Given the description of an element on the screen output the (x, y) to click on. 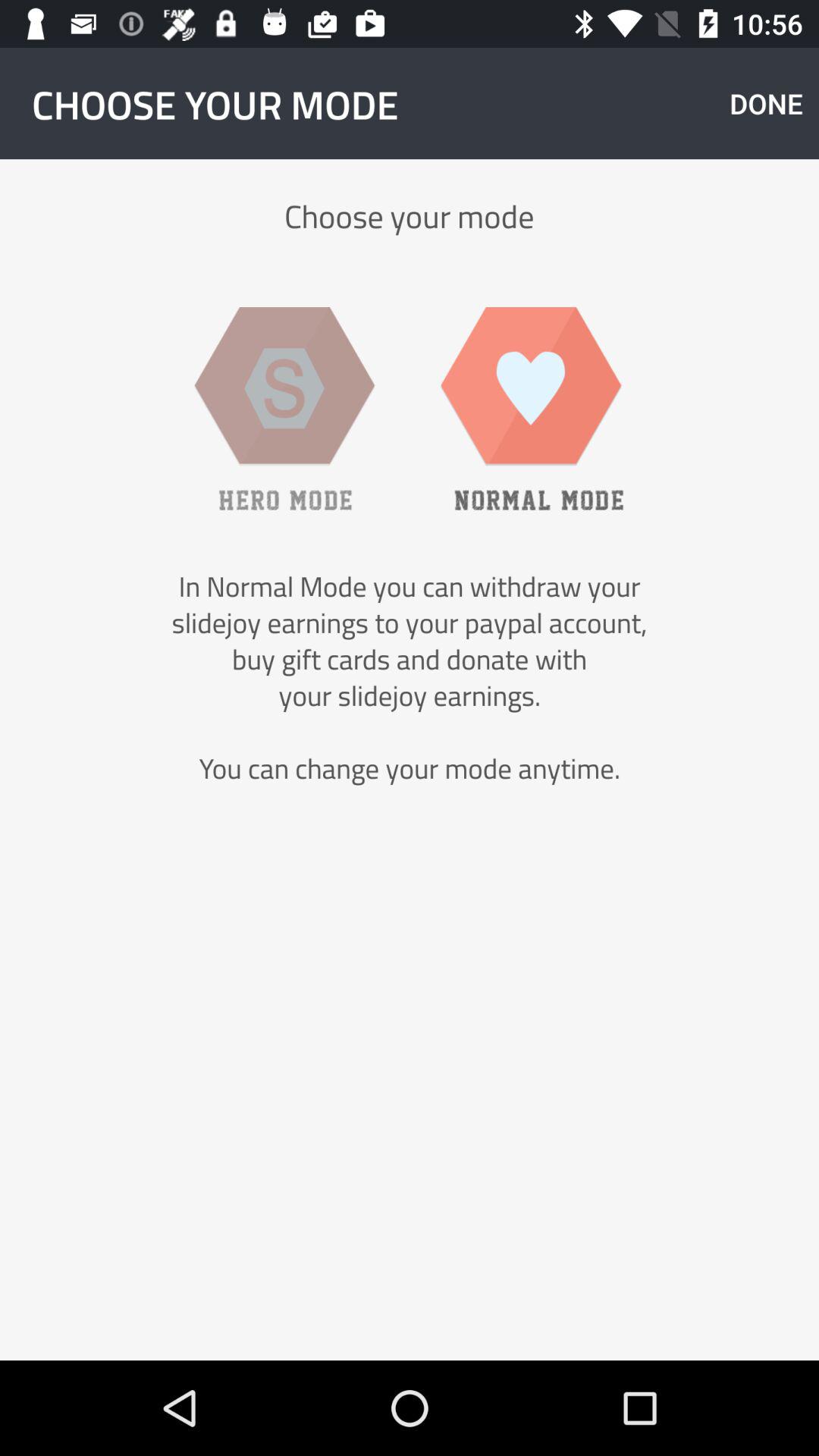
choose icon to the right of the choose your mode (766, 103)
